Given the description of an element on the screen output the (x, y) to click on. 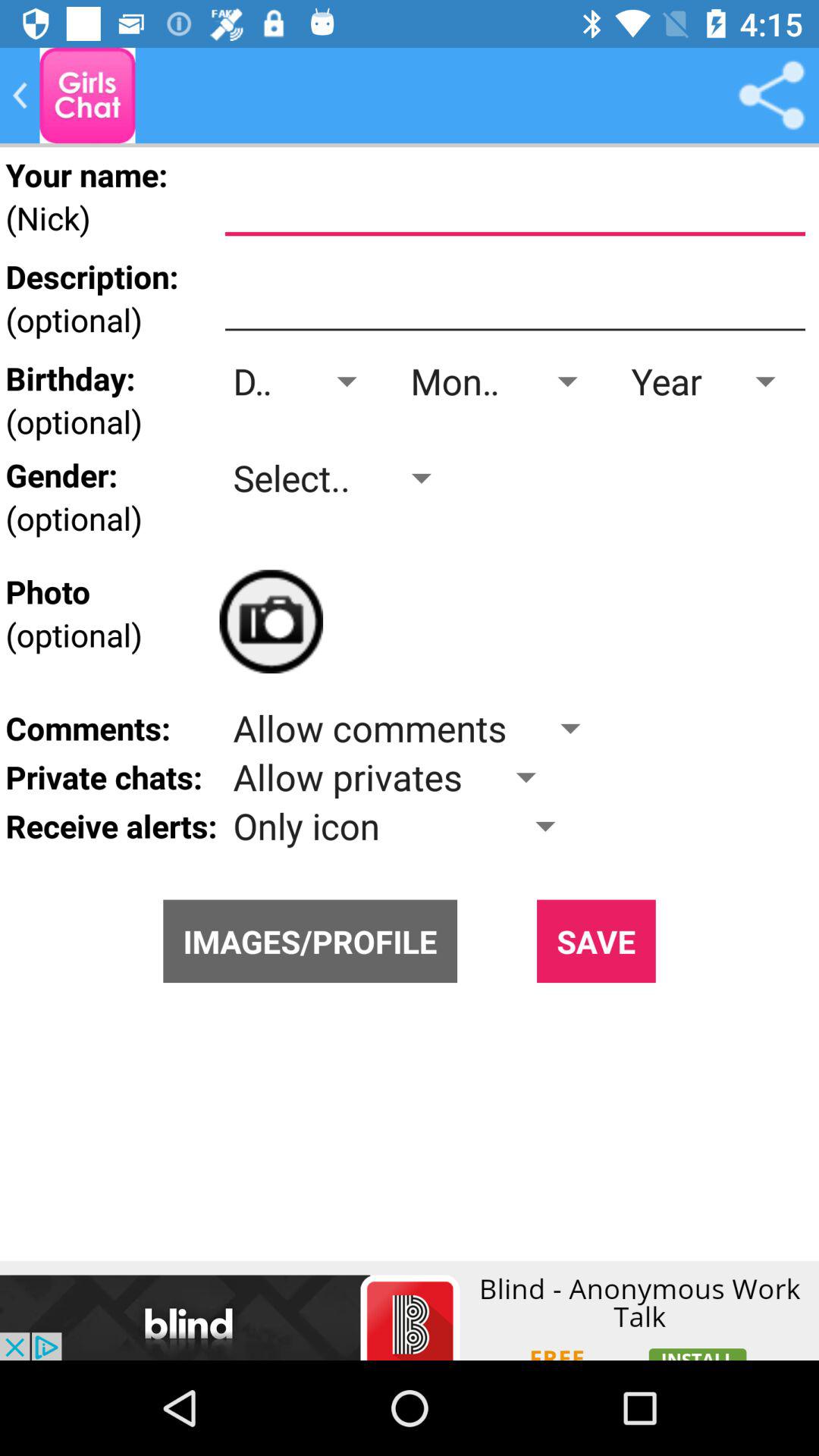
click the advertisement (409, 1310)
